Given the description of an element on the screen output the (x, y) to click on. 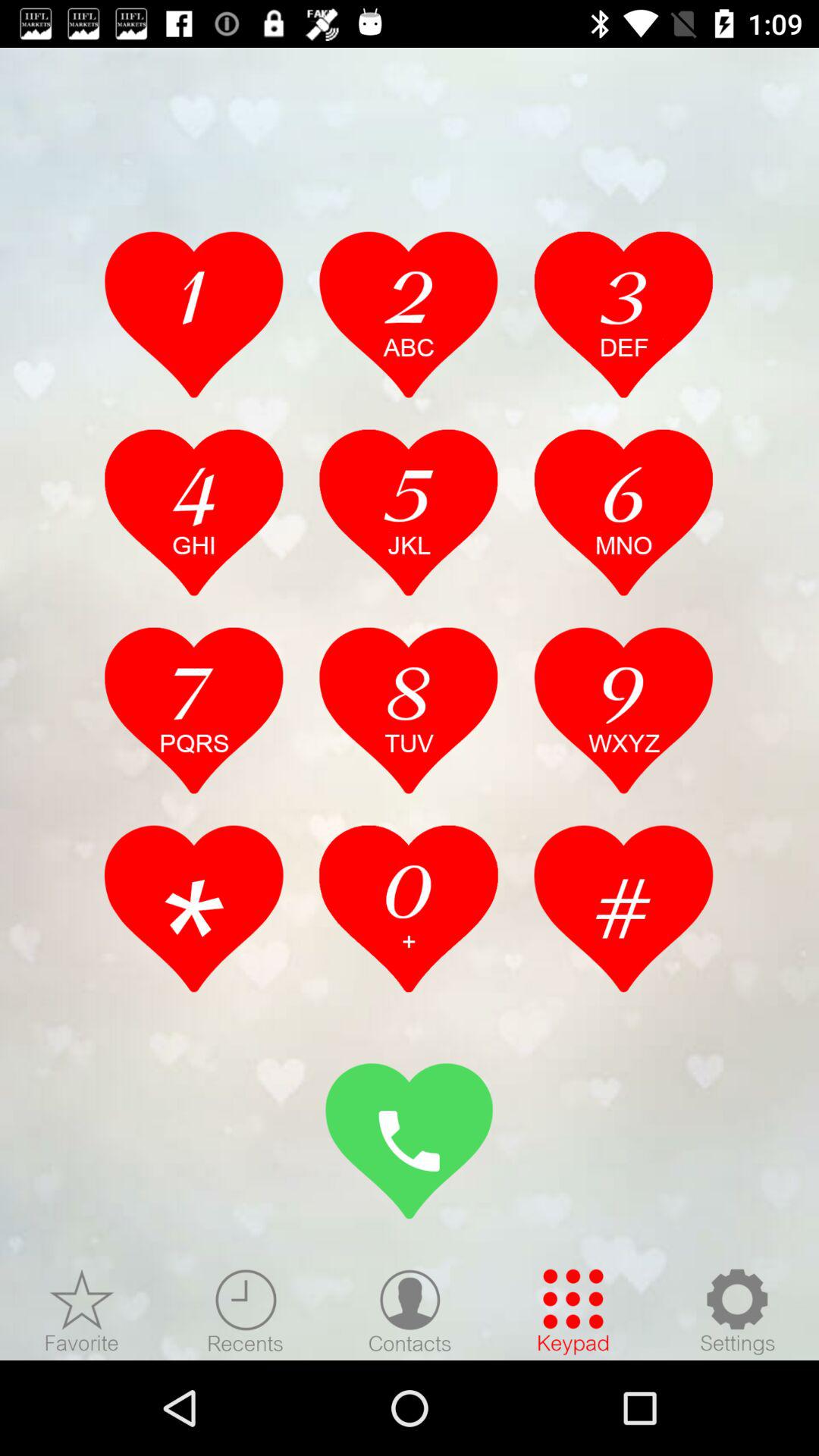
open keypad (573, 1311)
